Given the description of an element on the screen output the (x, y) to click on. 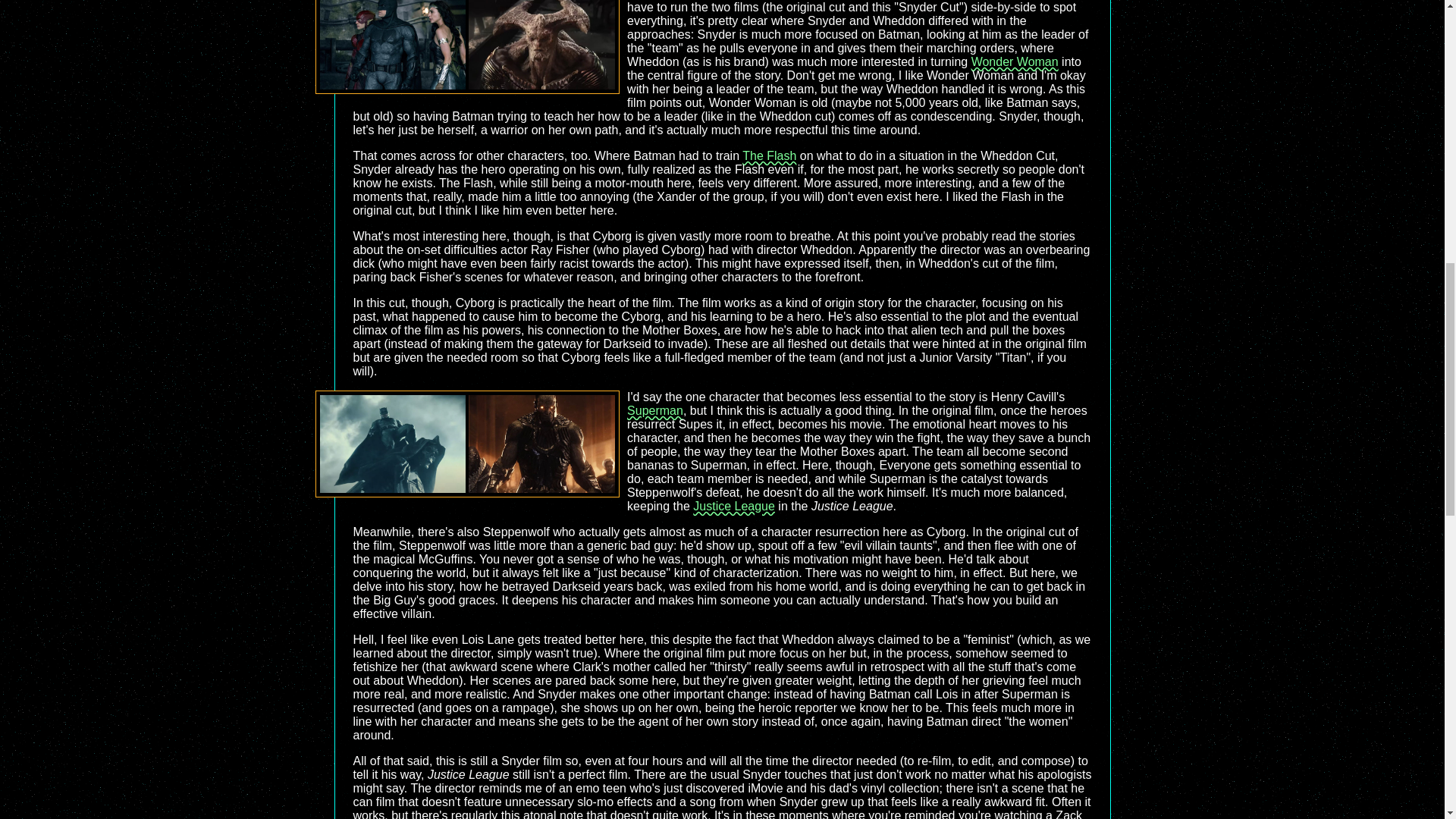
Justice League (733, 505)
Superman (654, 410)
The Flash (769, 155)
Wonder Woman (1014, 61)
